Given the description of an element on the screen output the (x, y) to click on. 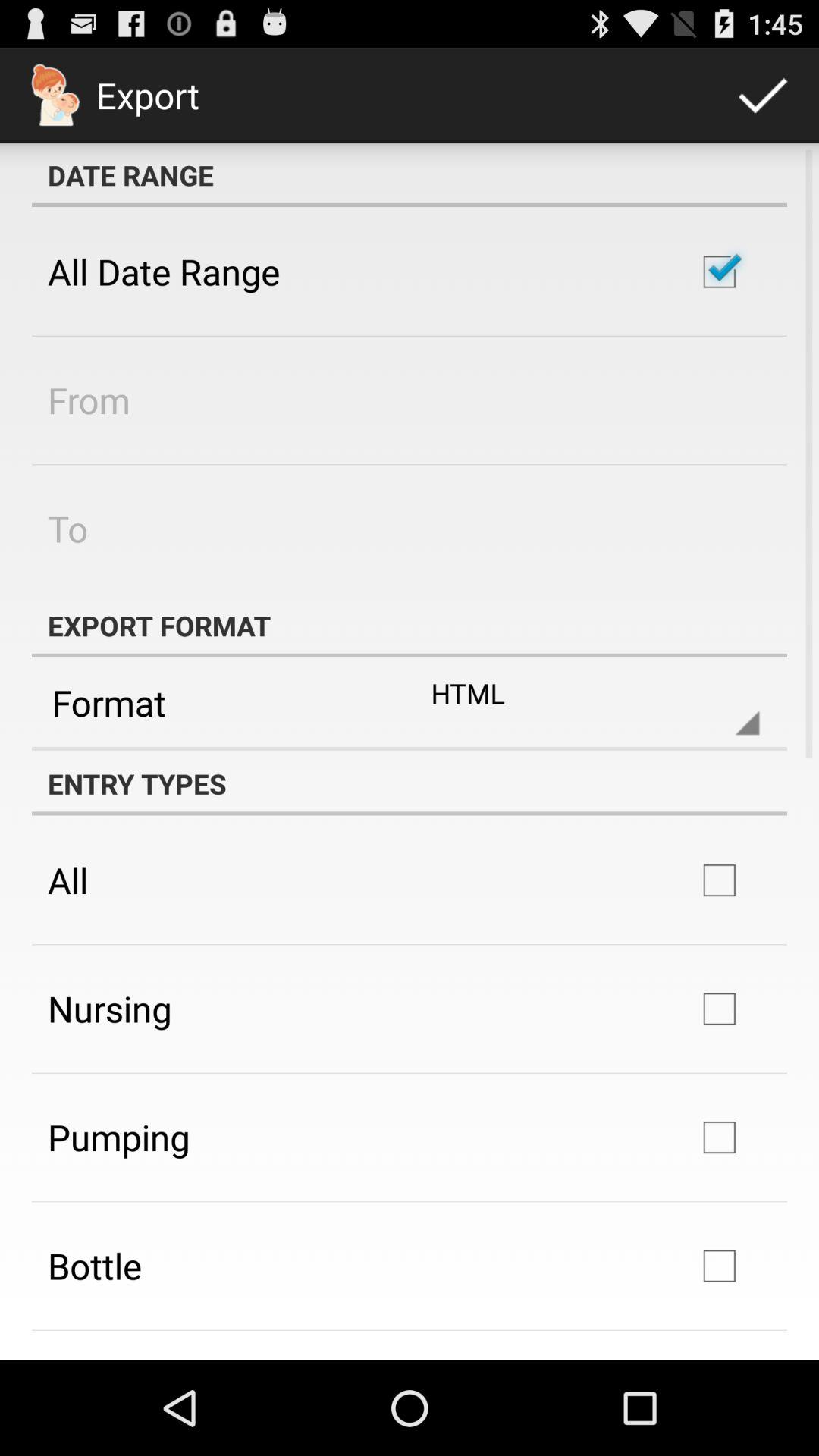
tap entry types item (409, 783)
